Given the description of an element on the screen output the (x, y) to click on. 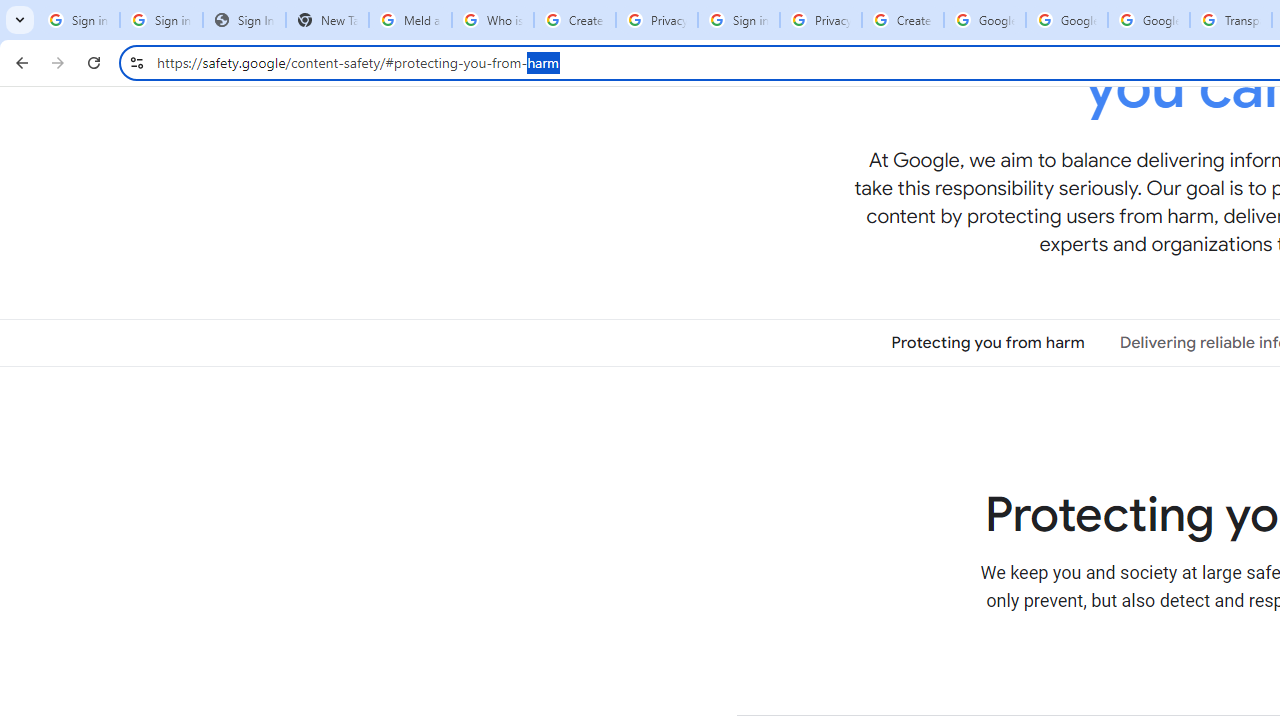
Sign in - Google Accounts (78, 20)
New Tab (326, 20)
Sign in - Google Accounts (161, 20)
Sign in - Google Accounts (738, 20)
Create your Google Account (574, 20)
Who is my administrator? - Google Account Help (492, 20)
